Given the description of an element on the screen output the (x, y) to click on. 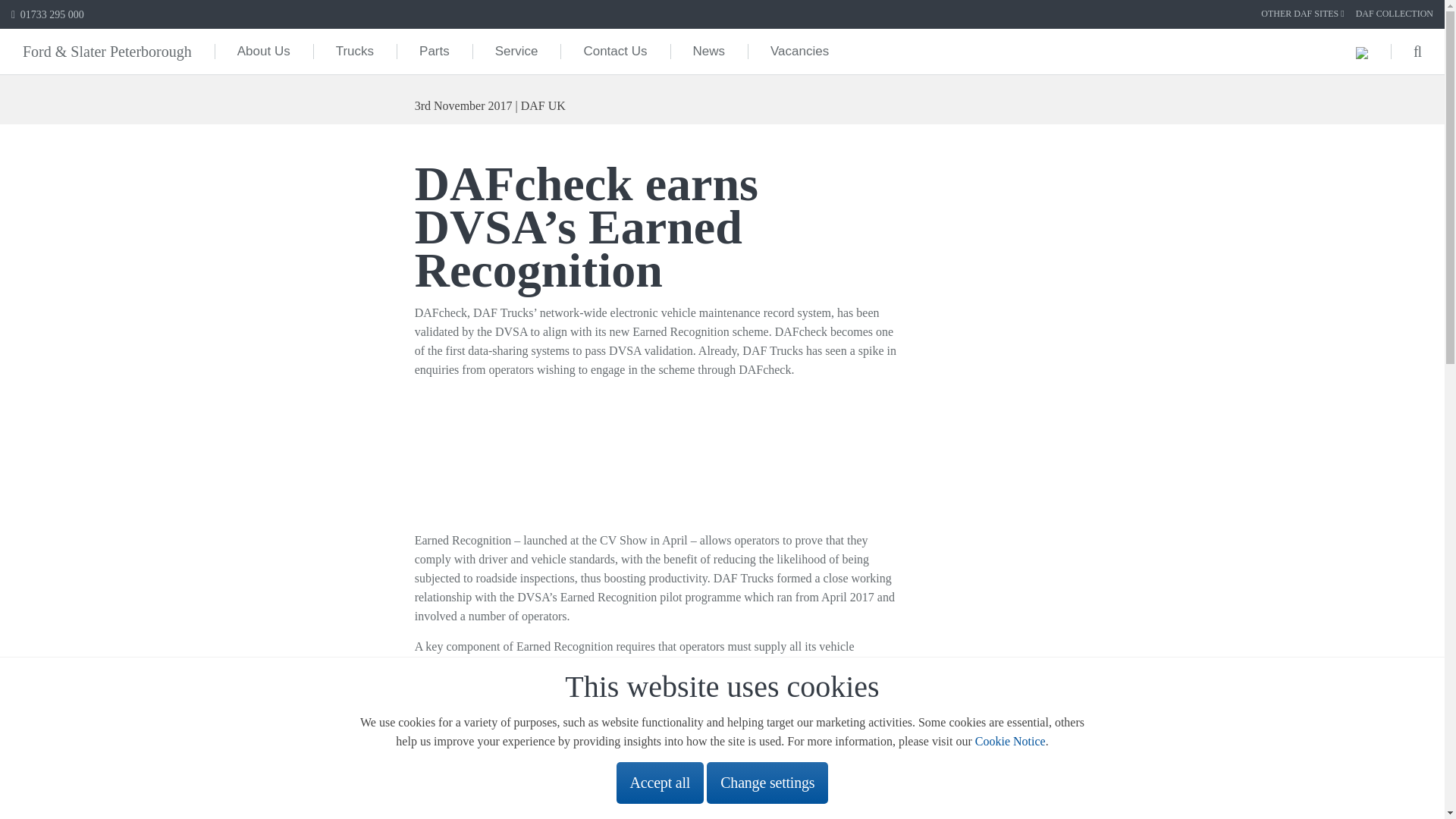
Parts (433, 51)
Trucks (354, 51)
News (708, 51)
DAF COLLECTION (1393, 13)
01733 295 000 (47, 14)
Contact Us (614, 51)
About Us (263, 51)
Vacancies (799, 51)
Service (515, 51)
